Given the description of an element on the screen output the (x, y) to click on. 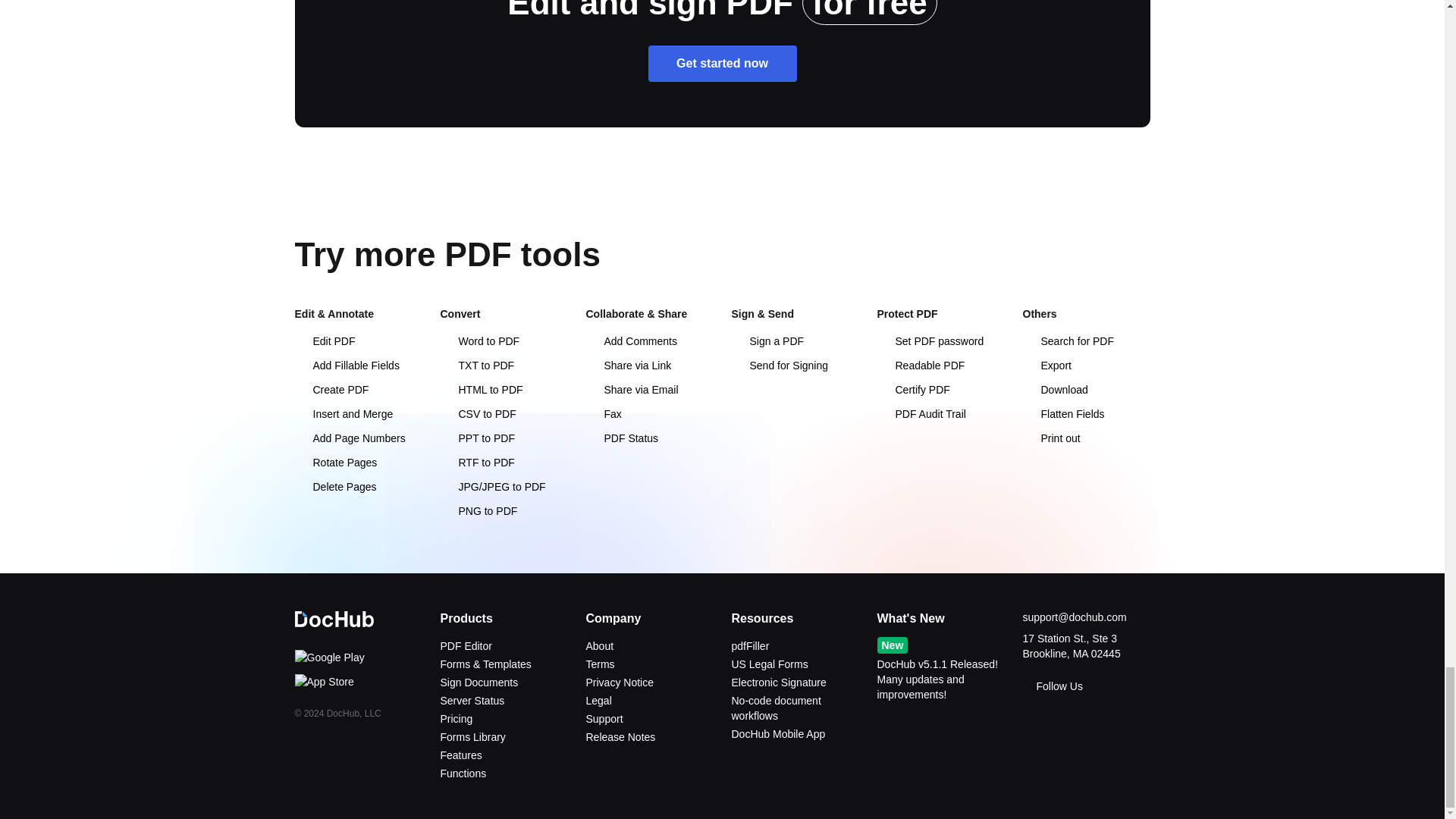
Share via Email (631, 389)
Create PDF (331, 389)
Delete Pages (334, 486)
CSV to PDF (477, 413)
TXT to PDF (476, 365)
Fax (603, 413)
Add Page Numbers (349, 438)
Rotate Pages (335, 462)
Sign a PDF (766, 340)
Add Comments (631, 340)
